Given the description of an element on the screen output the (x, y) to click on. 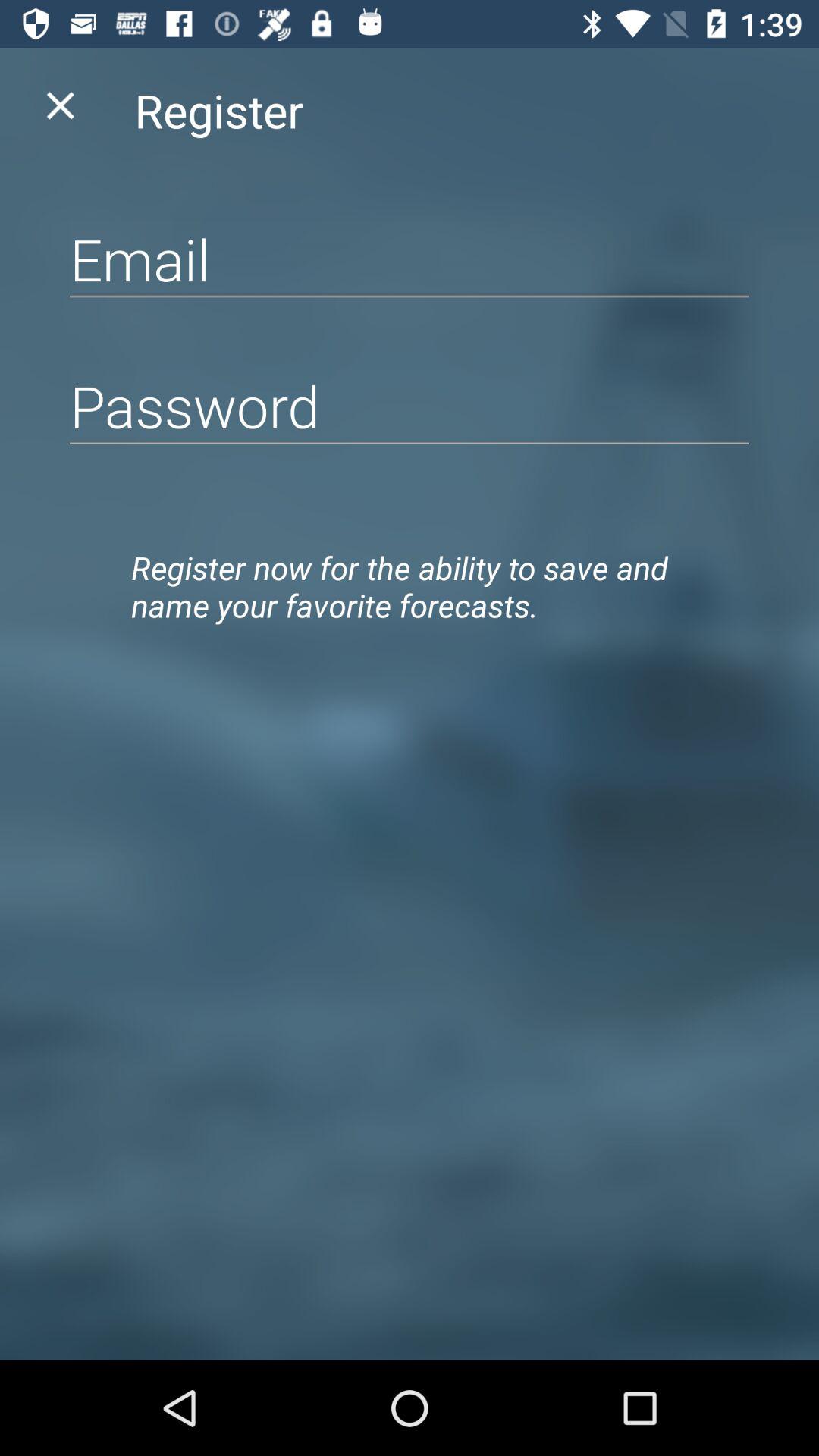
click the item above register now for item (409, 405)
